Given the description of an element on the screen output the (x, y) to click on. 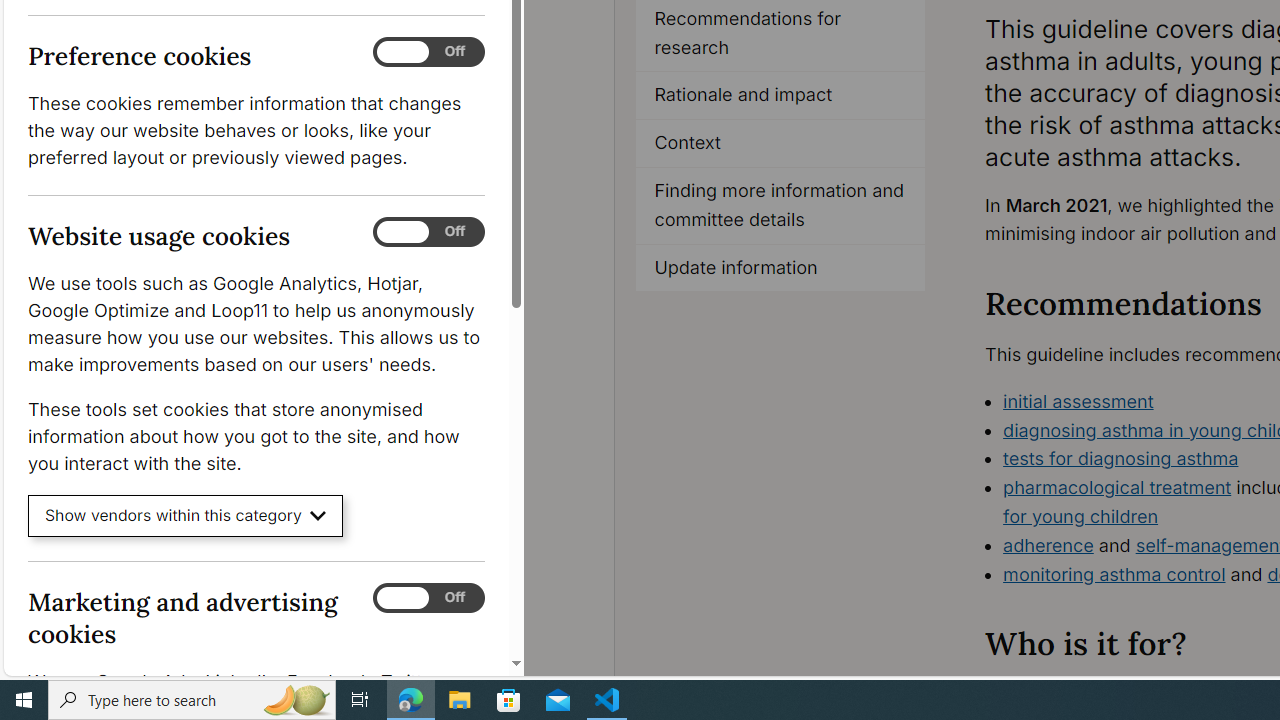
Context (781, 143)
Show vendors within this category (185, 516)
Finding more information and committee details (781, 205)
